Given the description of an element on the screen output the (x, y) to click on. 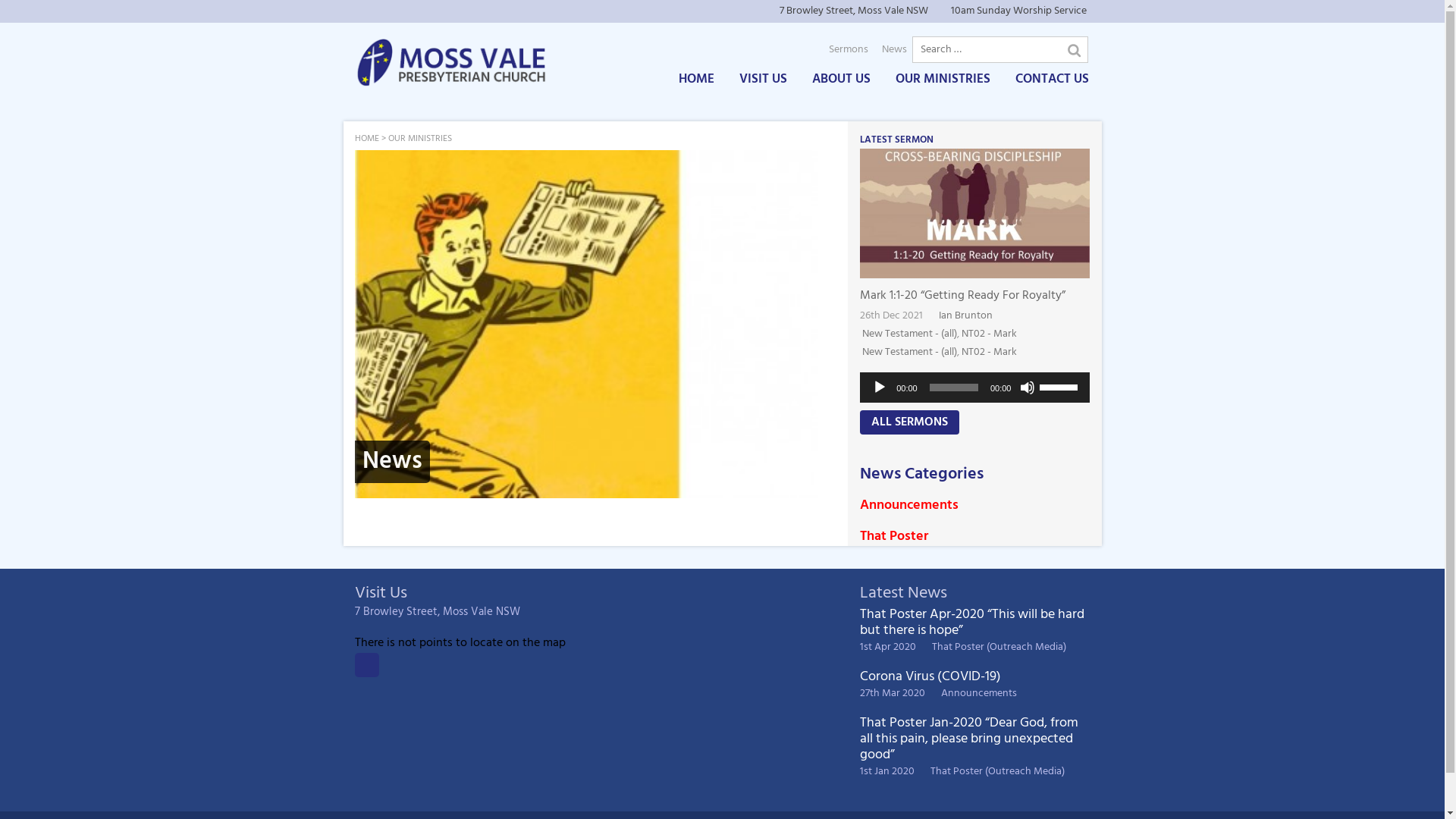
NT02 - Mark Element type: text (988, 333)
Play Element type: hover (879, 387)
That Poster Element type: text (893, 536)
ABOUT US Element type: text (840, 79)
Corona Virus (COVID-19) Element type: text (930, 676)
ALL SERMONS Element type: text (909, 422)
Announcements Element type: text (908, 505)
Sermons Element type: text (848, 49)
New Testament - (all) Element type: text (909, 333)
That Poster (Outreach Media) Element type: text (997, 771)
That Poster (Outreach Media) Element type: text (998, 646)
HOME Element type: text (366, 138)
Use Up/Down Arrow keys to increase or decrease volume. Element type: text (1060, 385)
OUR MINISTRIES Element type: text (419, 138)
Mute Element type: hover (1027, 387)
Announcements Element type: text (978, 693)
New Testament - (all) Element type: text (909, 351)
VISIT US Element type: text (762, 79)
NT02 - Mark Element type: text (988, 351)
News Element type: text (894, 49)
Ian Brunton Element type: text (965, 315)
HOME Element type: text (695, 79)
CONTACT US Element type: text (1051, 79)
OUR MINISTRIES Element type: text (941, 79)
Search Element type: text (1074, 50)
Search for: Element type: hover (999, 49)
